Given the description of an element on the screen output the (x, y) to click on. 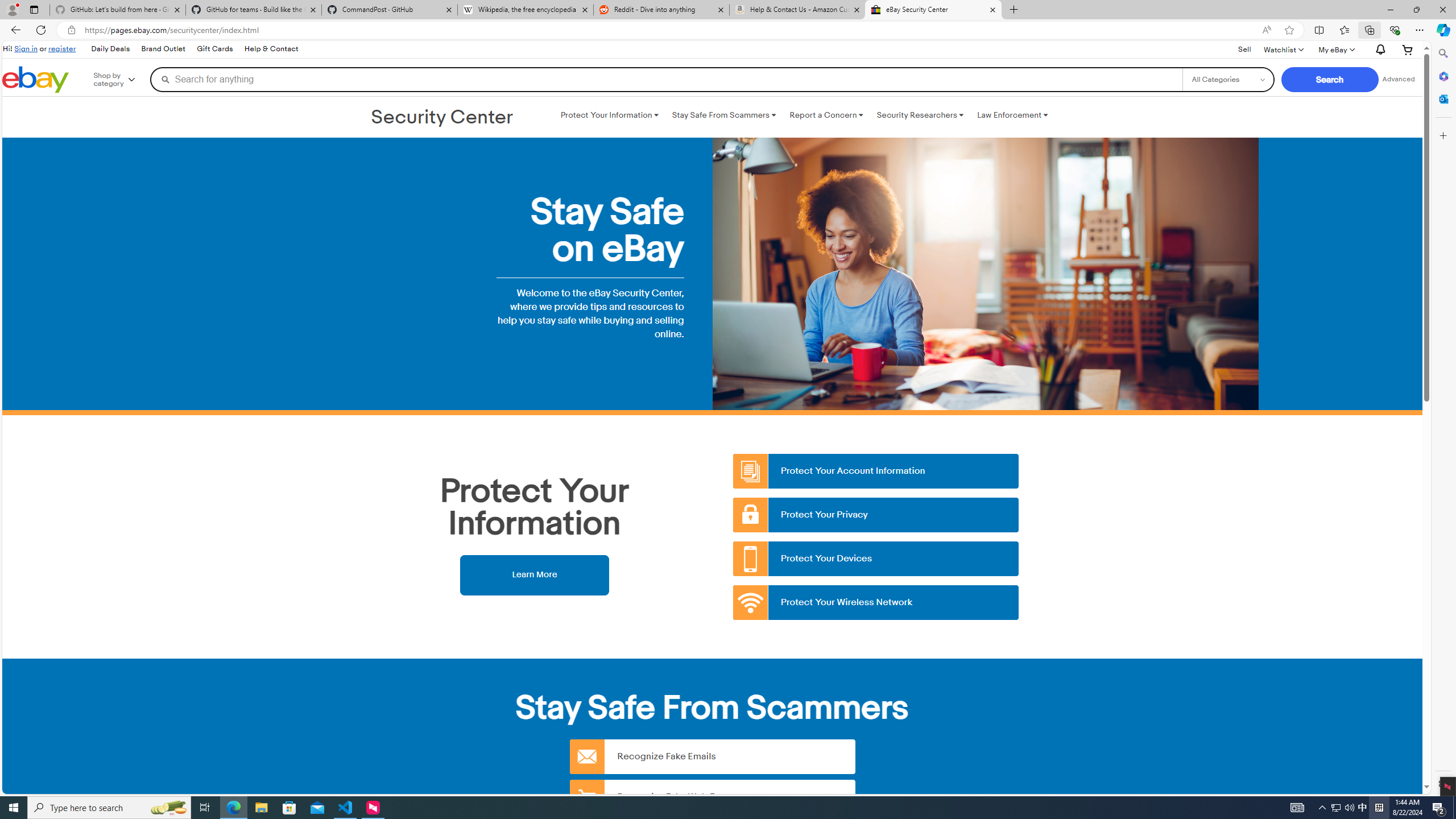
Protect Your Information  (608, 115)
Security Center (442, 117)
Recognize Fake Emails (712, 756)
Your shopping cart (1407, 49)
Security Researchers  (919, 115)
Law Enforcement  (1012, 115)
Recognize Fake Web Pages (712, 796)
Protect Your Account Information (876, 470)
Learn More (534, 574)
Search for anything (665, 78)
Gift Cards (214, 49)
